Given the description of an element on the screen output the (x, y) to click on. 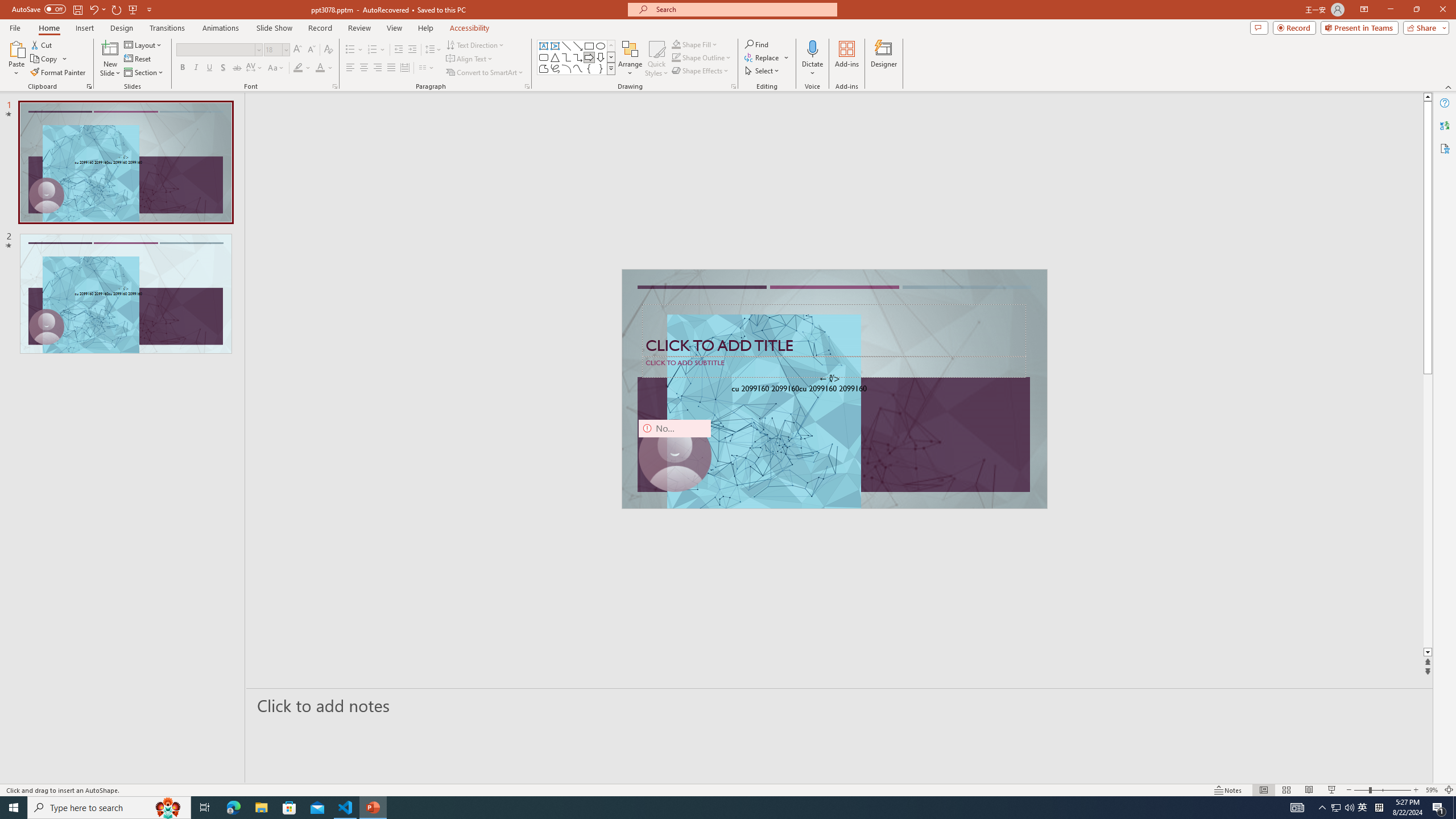
Zoom 59% (1431, 790)
